Given the description of an element on the screen output the (x, y) to click on. 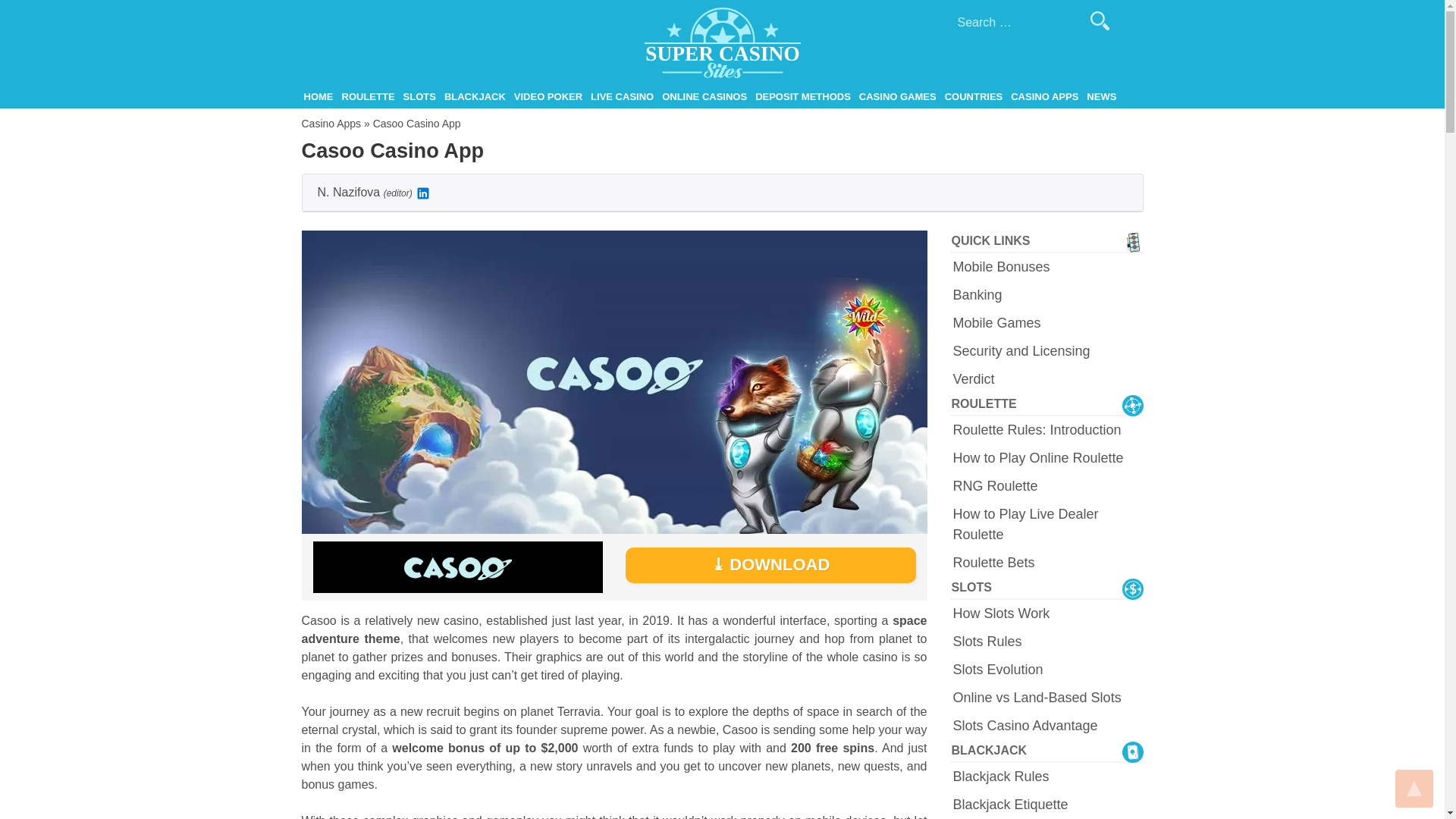
DEPOSIT METHODS (802, 96)
Banking (1047, 295)
CASINO GAMES (898, 96)
CASINO APPS (1044, 96)
Roulette Rules: Introduction (1047, 430)
NEWS (1101, 96)
Mobile Games (1047, 322)
SLOTS (419, 96)
BLACKJACK (475, 96)
HOME (318, 96)
Verdict (1047, 379)
Mobile Bonuses (1047, 267)
ROULETTE (368, 96)
VIDEO POKER (548, 96)
Casino Apps (331, 122)
